Given the description of an element on the screen output the (x, y) to click on. 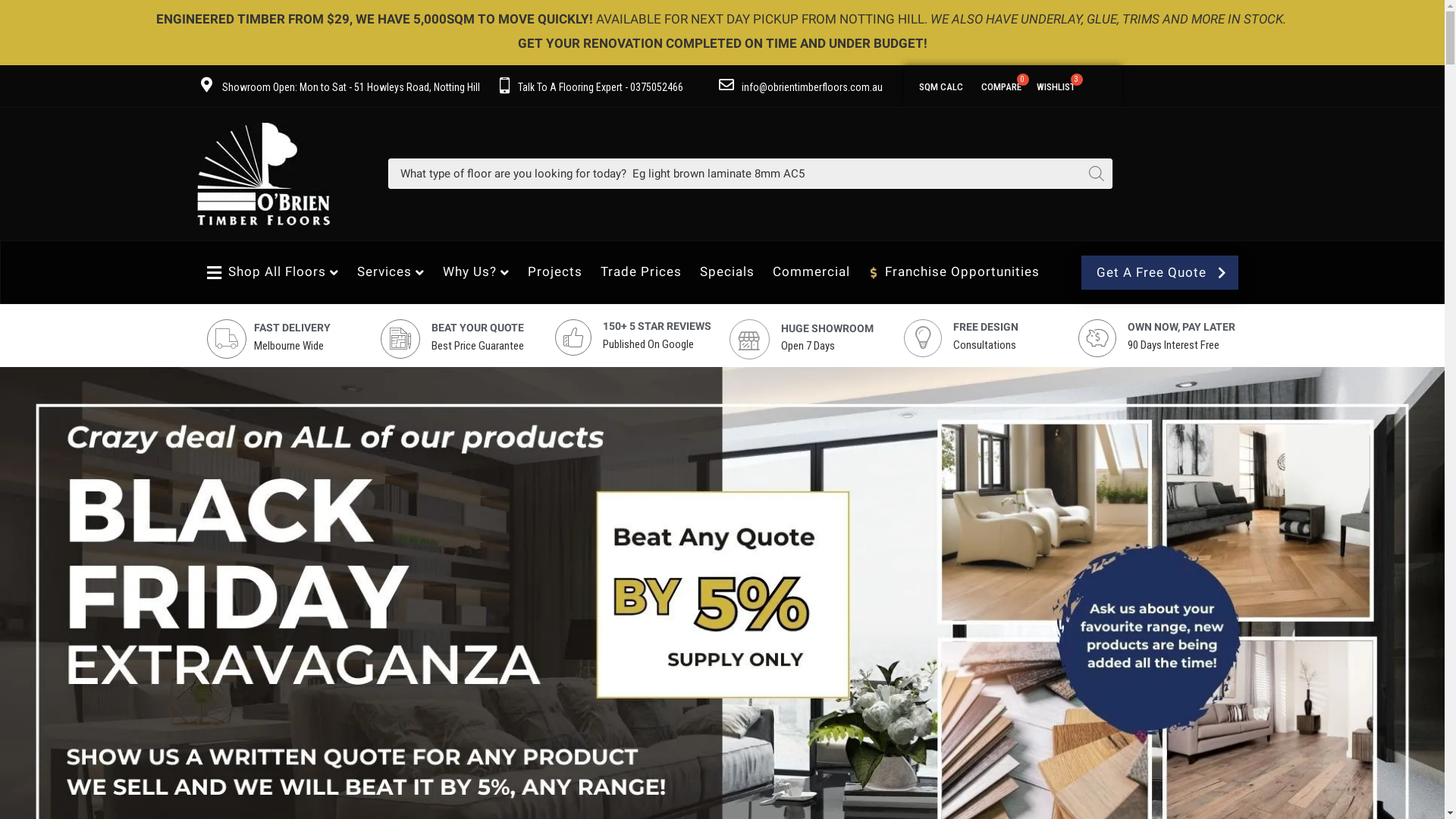
SQM CALC Element type: text (940, 84)
Specials Element type: text (727, 271)
COMPARE Element type: text (1000, 84)
Why Us? Element type: text (475, 271)
Projects Element type: text (554, 271)
Services Element type: text (390, 271)
Commercial Element type: text (810, 271)
WISHLIST Element type: text (1055, 84)
Franchise Opportunities Element type: text (953, 271)
Shop All Floors Element type: text (272, 271)
Trade Prices Element type: text (640, 271)
Get A Free Quote Element type: text (1158, 272)
